Given the description of an element on the screen output the (x, y) to click on. 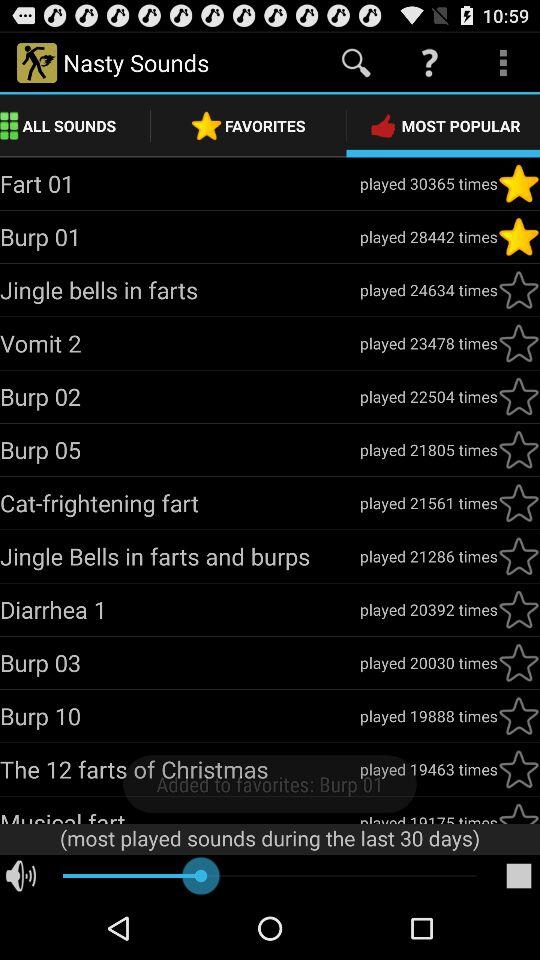
press icon above the burp 02 (180, 343)
